Given the description of an element on the screen output the (x, y) to click on. 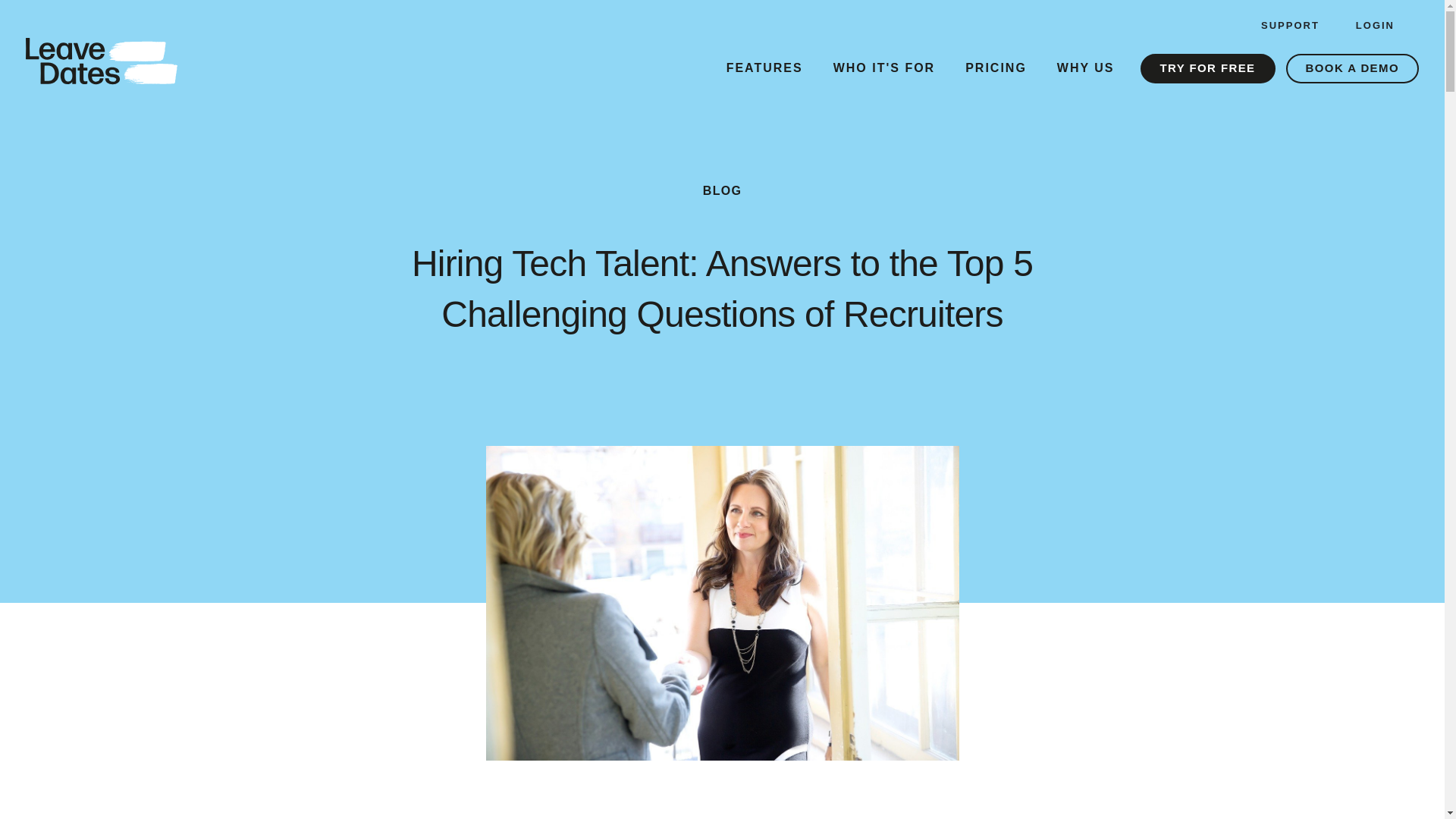
WHO IT'S FOR (884, 68)
TRY FOR FREE (1207, 68)
WHY US (1085, 68)
LOGIN (1374, 25)
BLOG (722, 190)
BOOK A DEMO (1351, 68)
PRICING (996, 68)
SUPPORT (1289, 25)
FEATURES (764, 68)
